Given the description of an element on the screen output the (x, y) to click on. 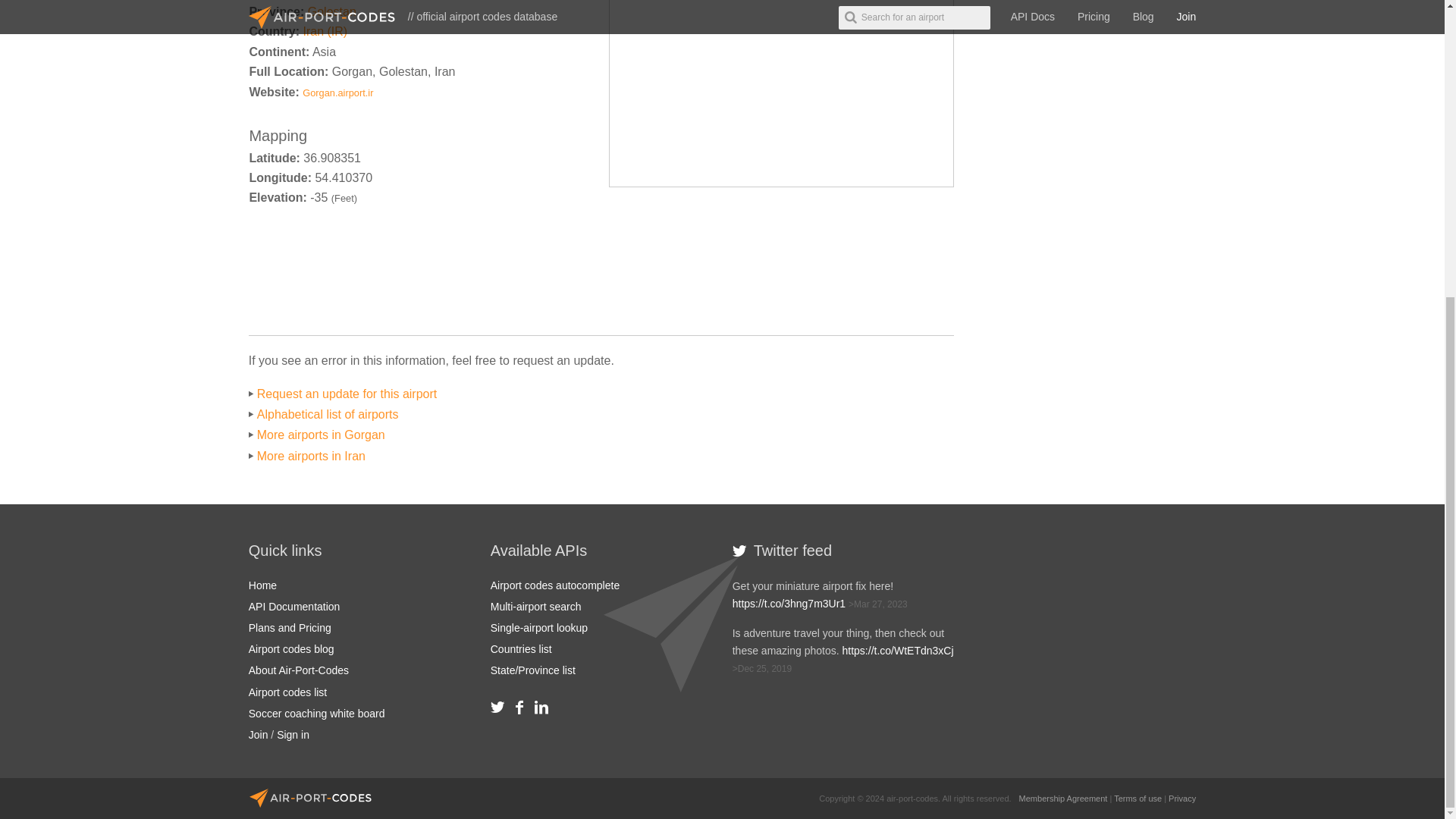
Alphabetical list of airports (327, 413)
Plans and Pricing (289, 627)
Airport codes autocomplete (555, 585)
Sign in (292, 734)
Single-airport lookup (539, 627)
Iran Airports (324, 31)
More airports in Iran (311, 455)
Terms of use (1137, 798)
Golestan (331, 11)
About Air-Port-Codes (298, 670)
